Given the description of an element on the screen output the (x, y) to click on. 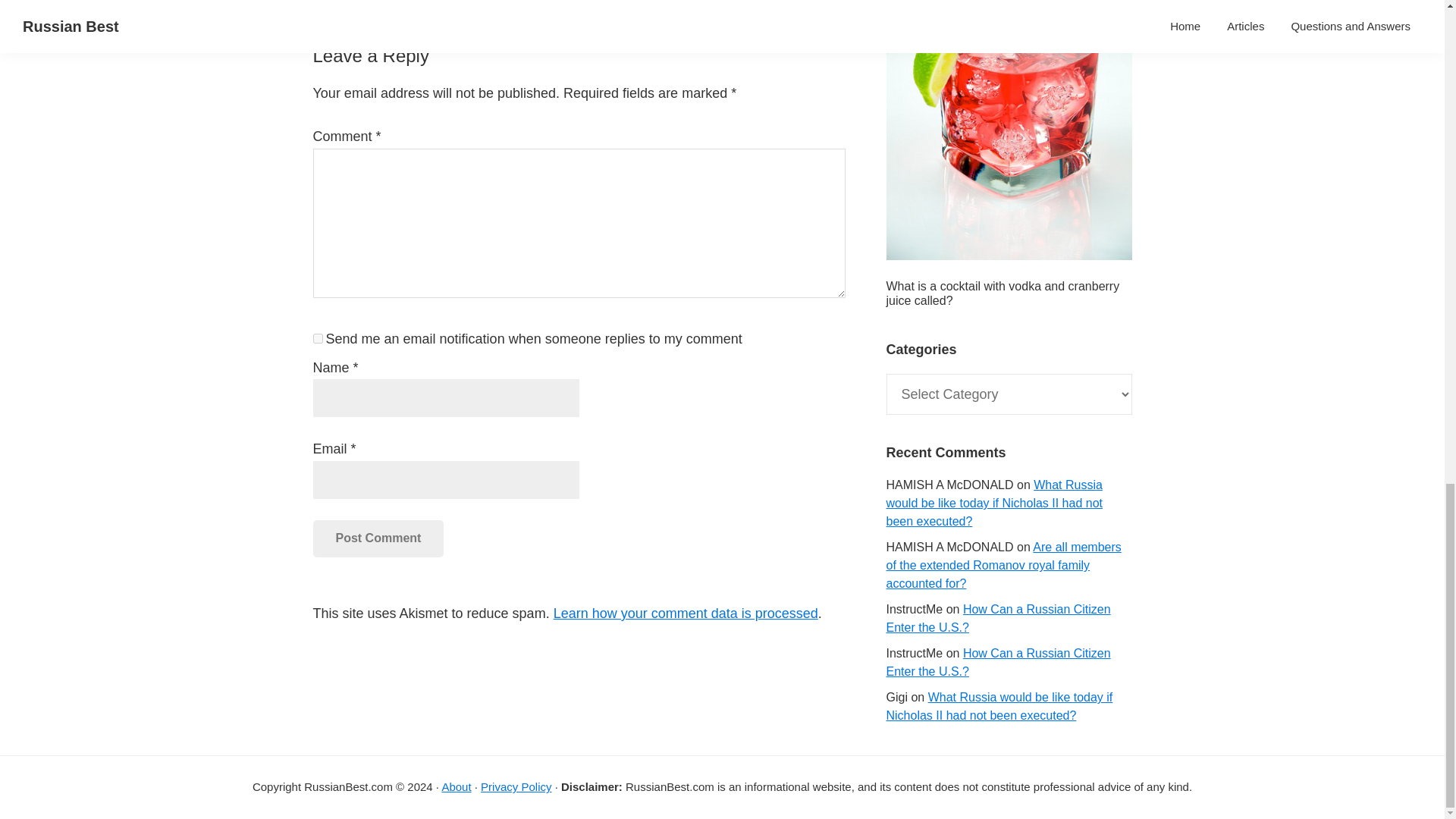
How Can a Russian Citizen Enter the U.S.? (997, 617)
How Can a Russian Citizen Enter the U.S.? (997, 662)
What is a cocktail with vodka and cranberry juice called? (1002, 293)
Learn how your comment data is processed (685, 613)
Post Comment (378, 538)
Post Comment (378, 538)
1 (317, 338)
